Given the description of an element on the screen output the (x, y) to click on. 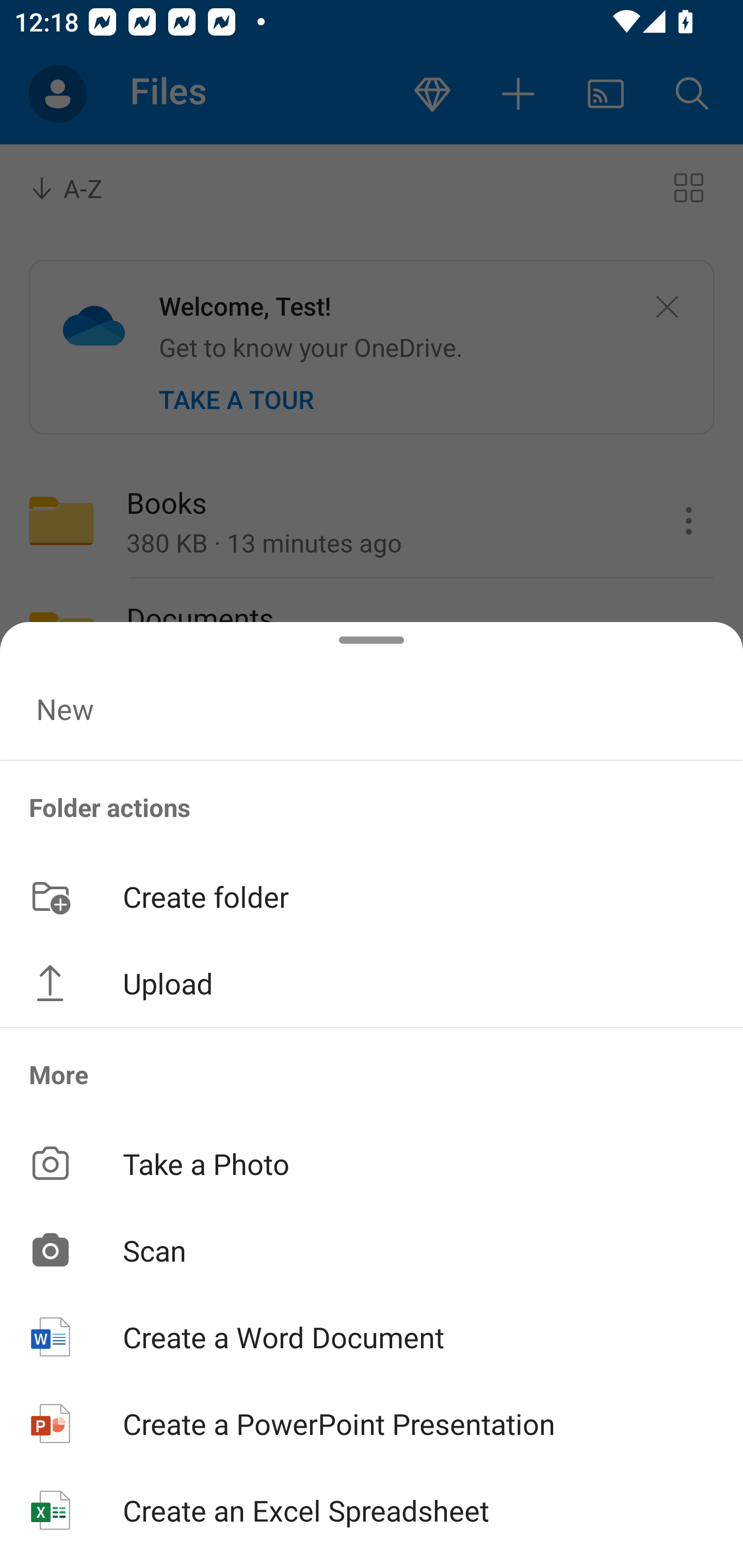
Create folder button Create folder (371, 895)
Upload button Upload (371, 983)
Take a Photo button Take a Photo (371, 1163)
Scan button Scan (371, 1250)
